Given the description of an element on the screen output the (x, y) to click on. 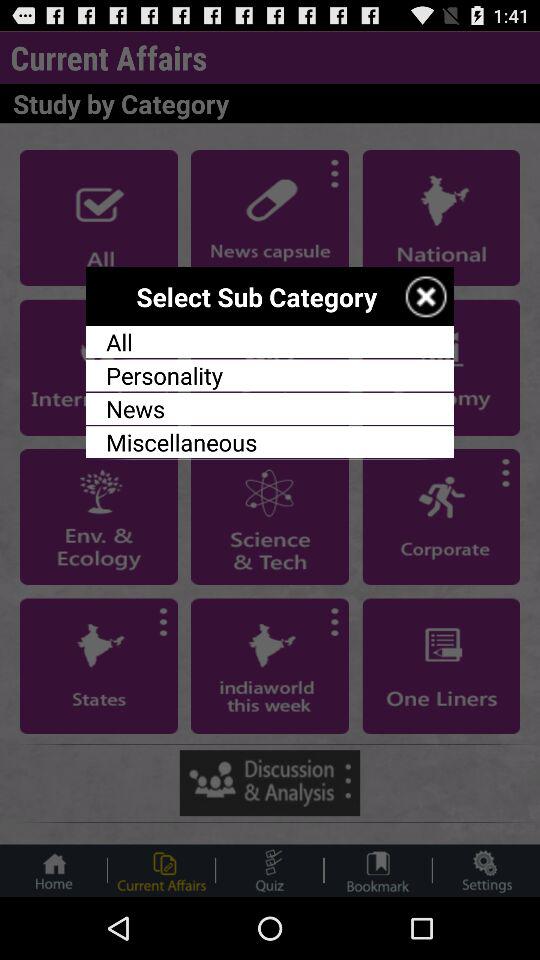
select item below the select sub category item (269, 342)
